Given the description of an element on the screen output the (x, y) to click on. 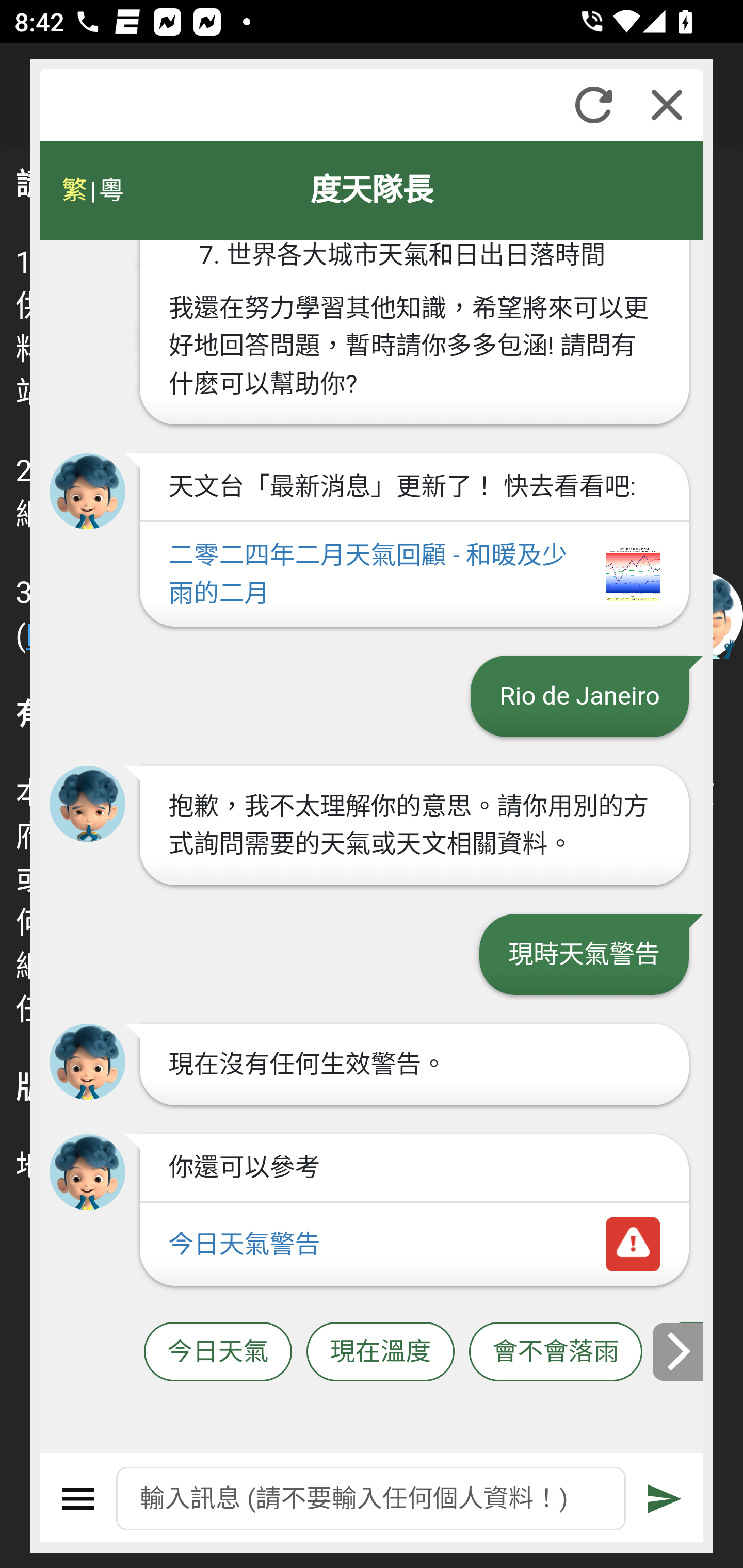
重新整理 (593, 104)
關閉 (666, 104)
繁 (73, 190)
粵 (110, 190)
二零二四年二月天氣回顧 - 和暖及少雨的二月 (413, 575)
今日天氣警告 (413, 1244)
今日天氣 (217, 1351)
現在溫度 (380, 1351)
會不會落雨 (555, 1351)
下一張 (678, 1351)
選單 (78, 1498)
遞交 (665, 1498)
